Given the description of an element on the screen output the (x, y) to click on. 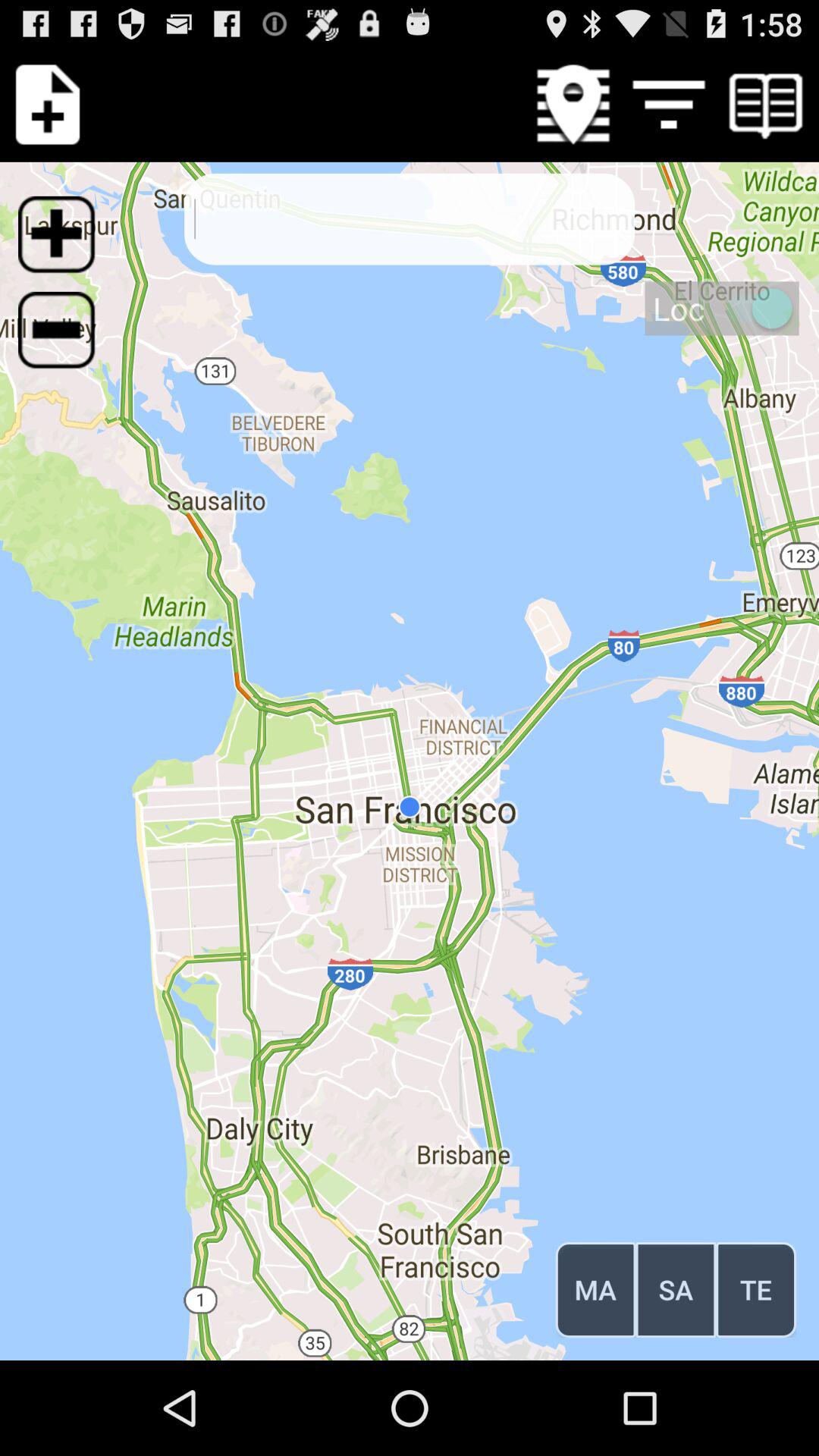
click button to the right of the ma icon (675, 1289)
